Given the description of an element on the screen output the (x, y) to click on. 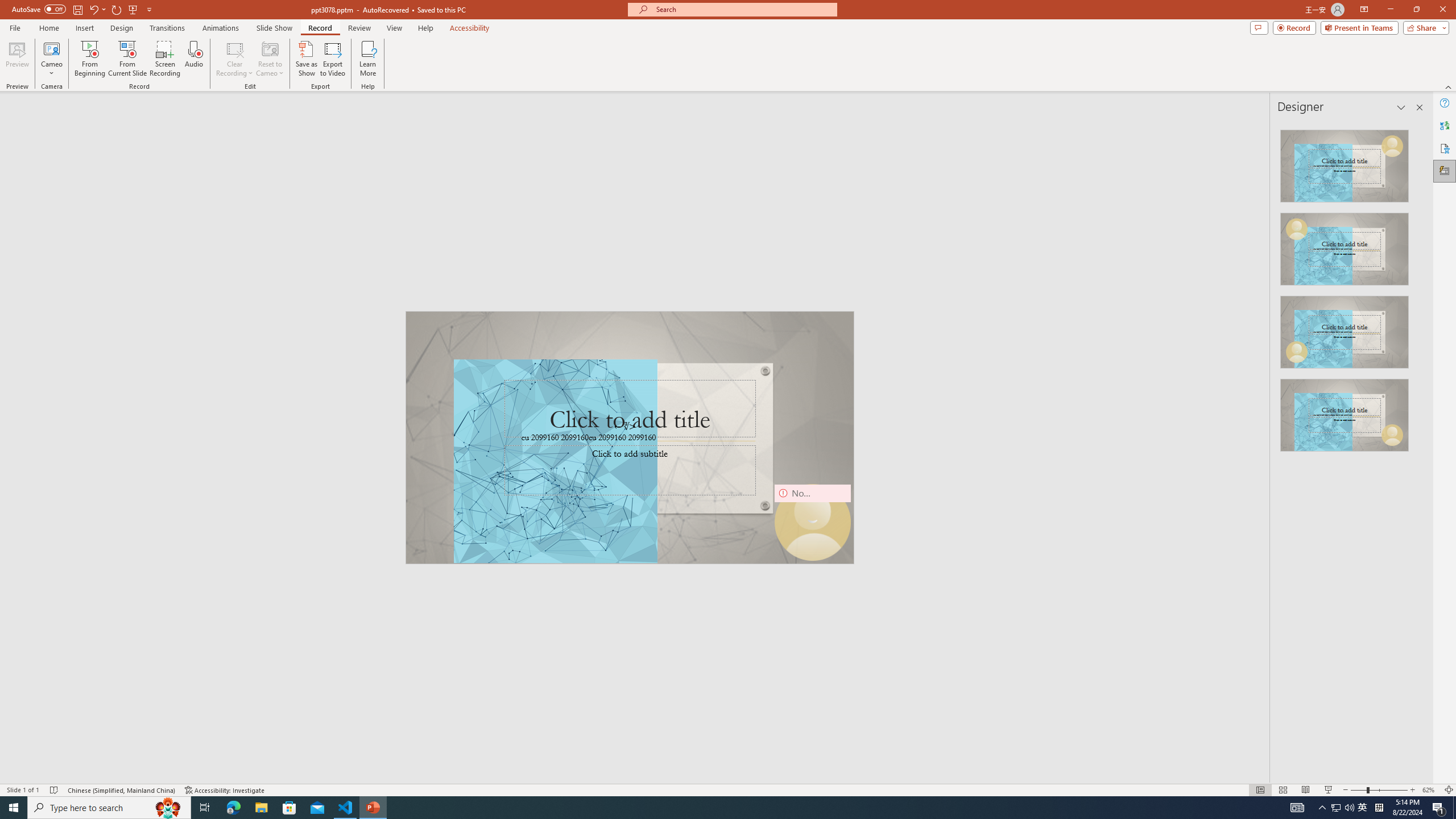
An abstract genetic concept (629, 437)
